Given the description of an element on the screen output the (x, y) to click on. 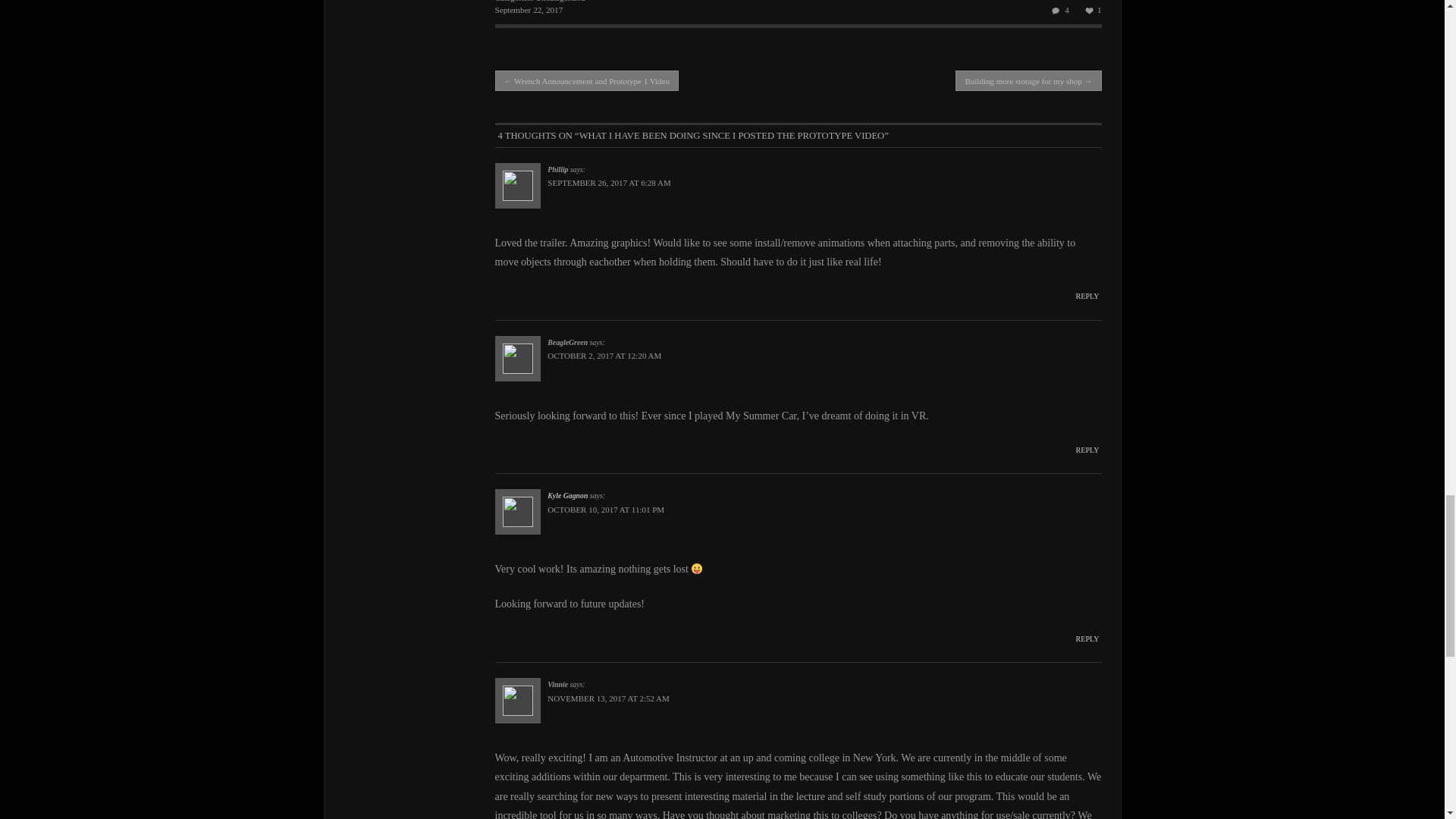
7:25 pm (528, 9)
REPLY (1088, 449)
OCTOBER 10, 2017 AT 11:01 PM (605, 509)
4 (1056, 10)
REPLY (1088, 295)
September 22, 2017 (528, 9)
Kyle Gagnon (567, 495)
Uncategorized (560, 1)
SEPTEMBER 26, 2017 AT 6:28 AM (608, 182)
NOVEMBER 13, 2017 AT 2:52 AM (608, 697)
REPLY (1088, 638)
OCTOBER 2, 2017 AT 12:20 AM (604, 355)
1 (1090, 10)
